Given the description of an element on the screen output the (x, y) to click on. 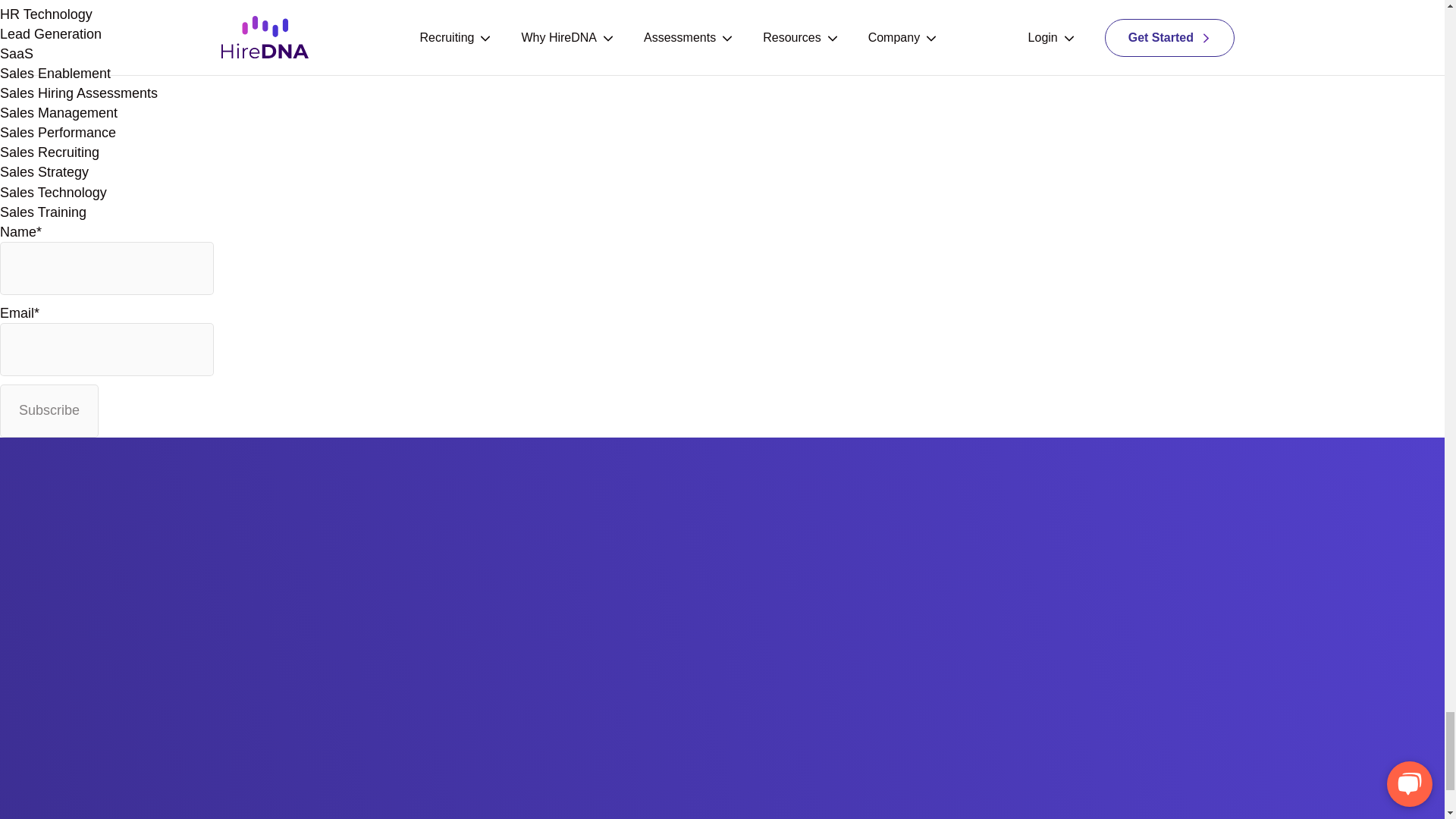
Subscribe (49, 410)
